Given the description of an element on the screen output the (x, y) to click on. 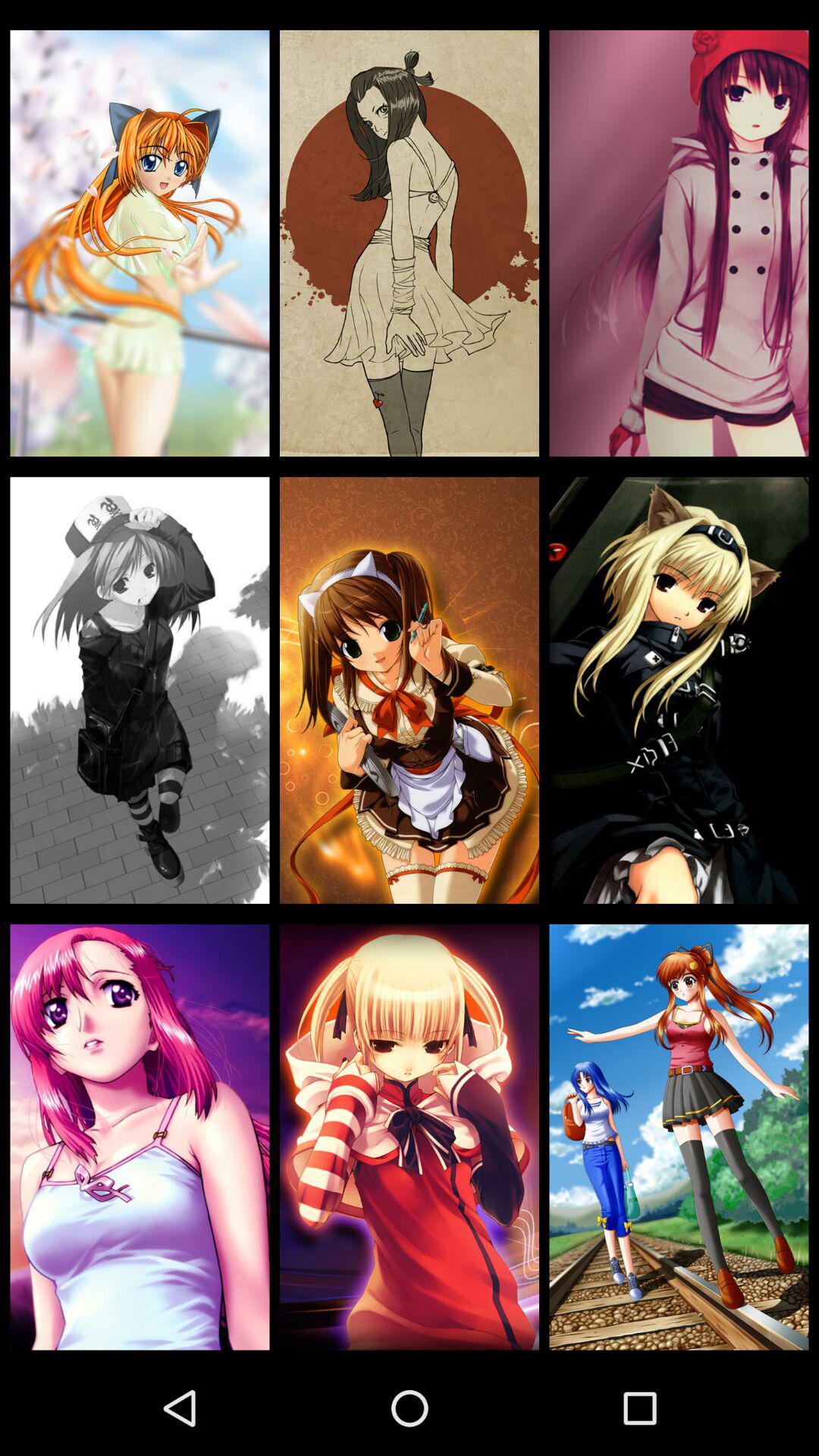
select character (409, 1137)
